Given the description of an element on the screen output the (x, y) to click on. 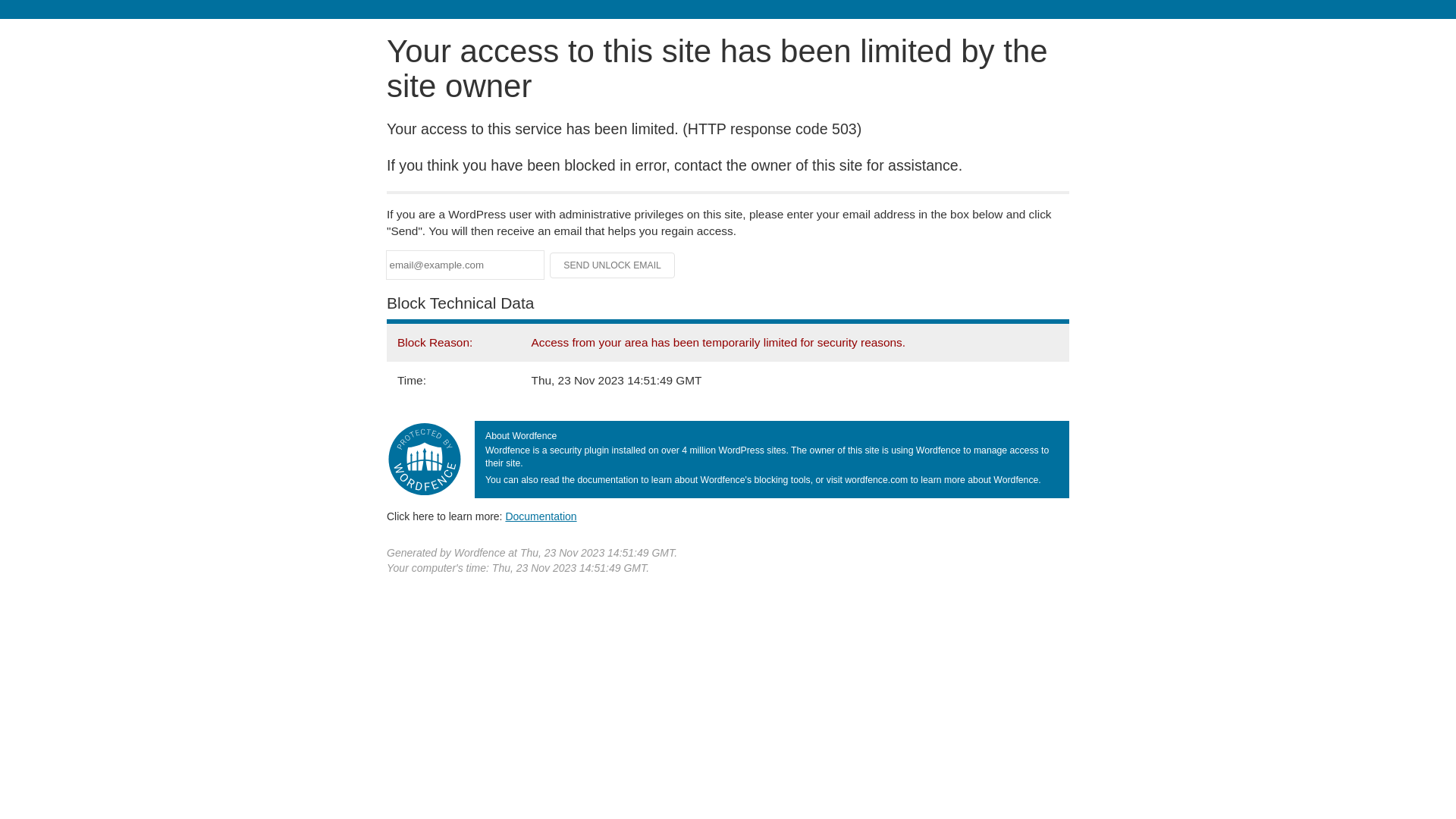
Documentation Element type: text (540, 516)
Send Unlock Email Element type: text (612, 265)
